Given the description of an element on the screen output the (x, y) to click on. 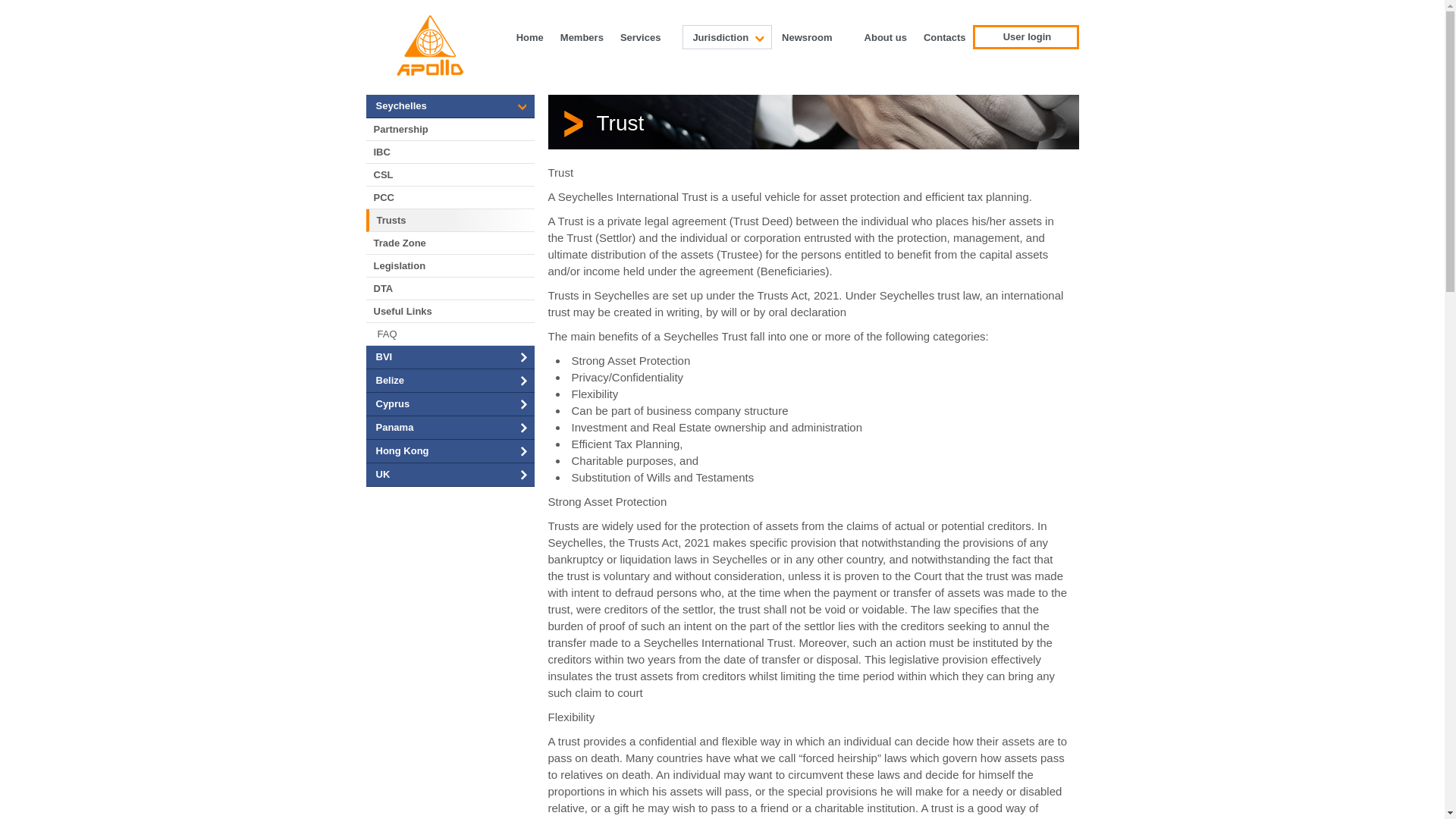
Home (528, 37)
Services (646, 37)
Jurisdiction (726, 37)
Apollo (429, 45)
Members (580, 37)
